Given the description of an element on the screen output the (x, y) to click on. 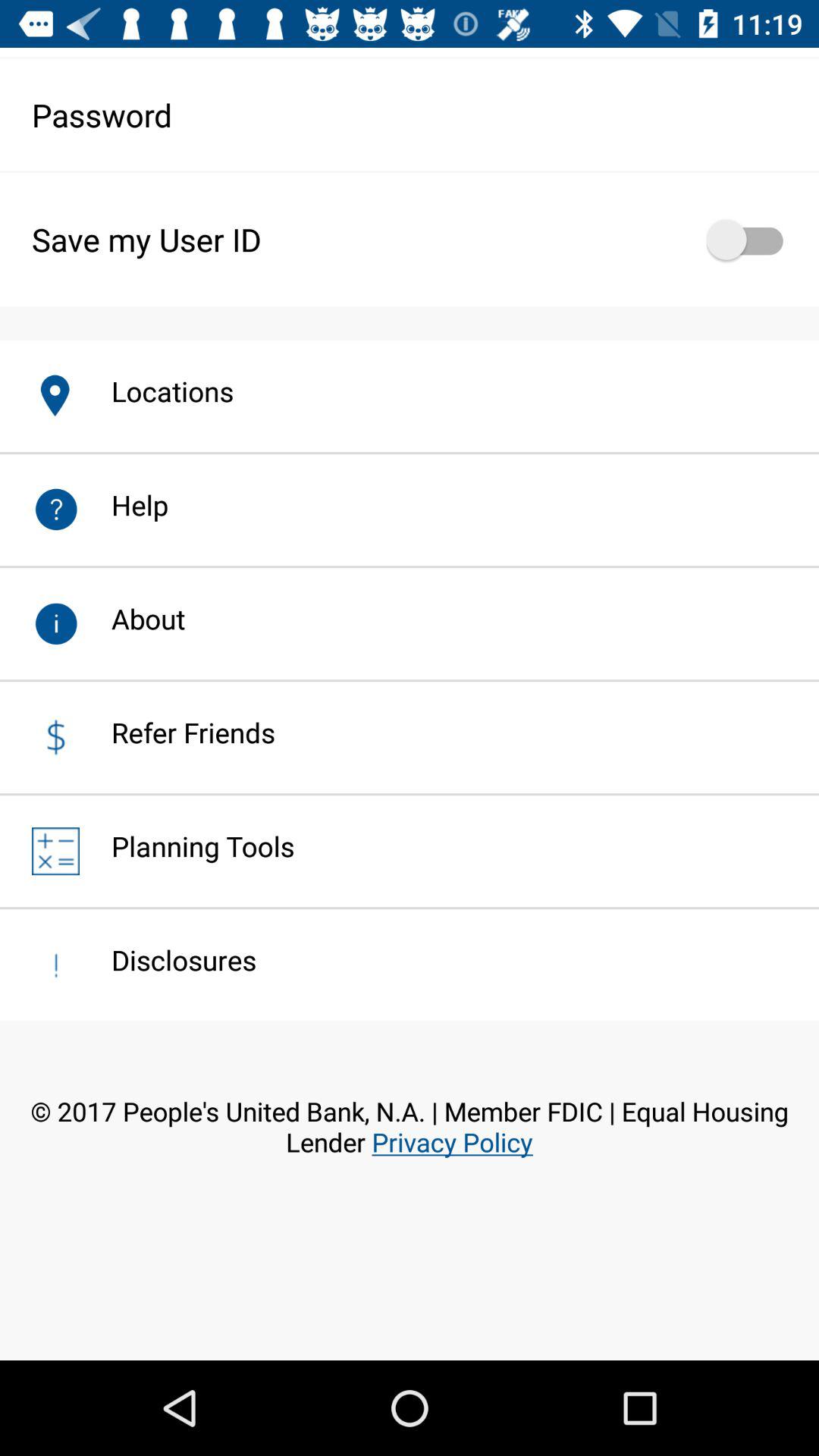
flip until disclosures item (167, 959)
